Given the description of an element on the screen output the (x, y) to click on. 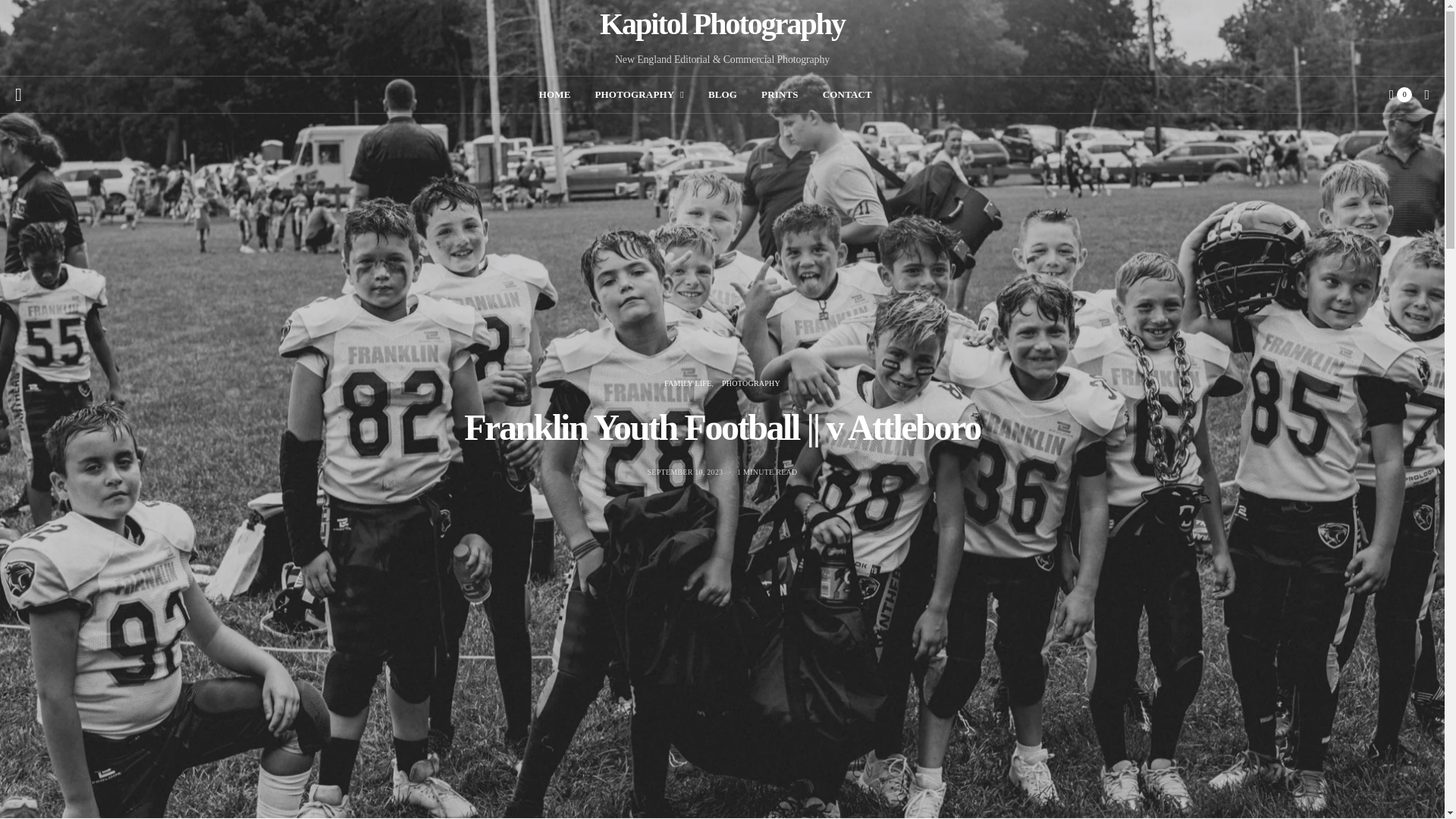
View your shopping cart (1400, 94)
